Given the description of an element on the screen output the (x, y) to click on. 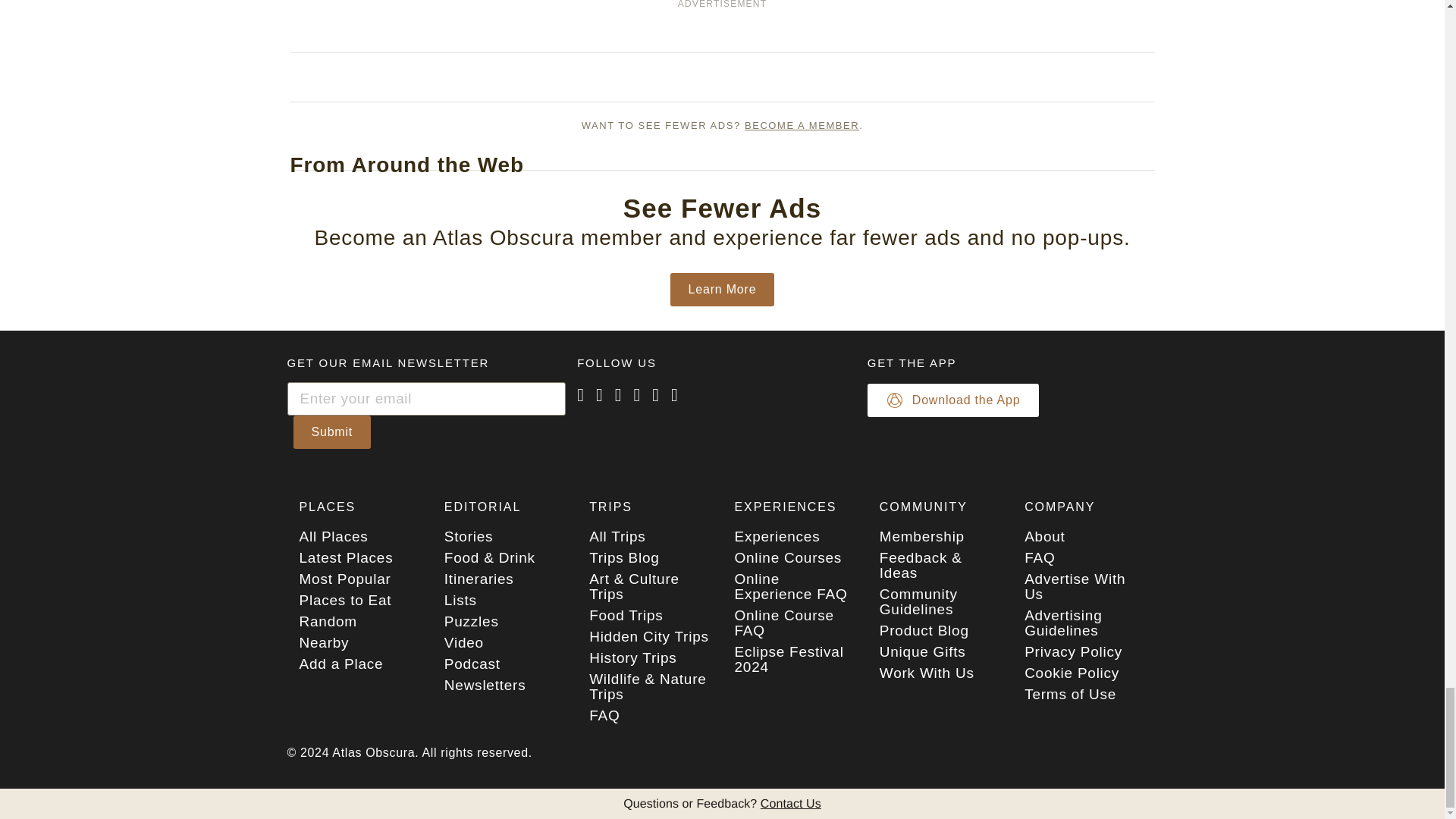
Submit (331, 431)
